Given the description of an element on the screen output the (x, y) to click on. 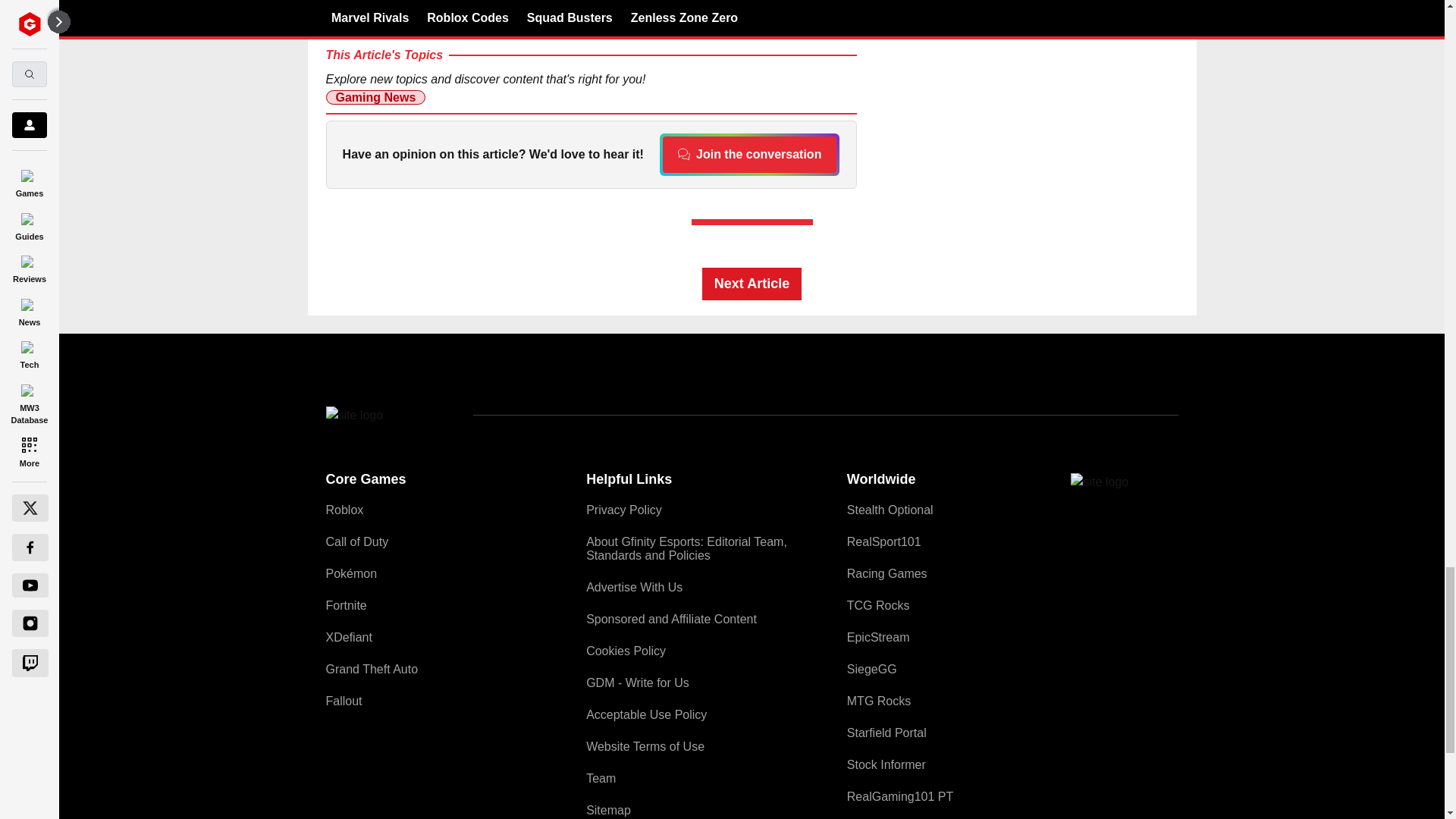
Latest News (1063, 97)
